Given the description of an element on the screen output the (x, y) to click on. 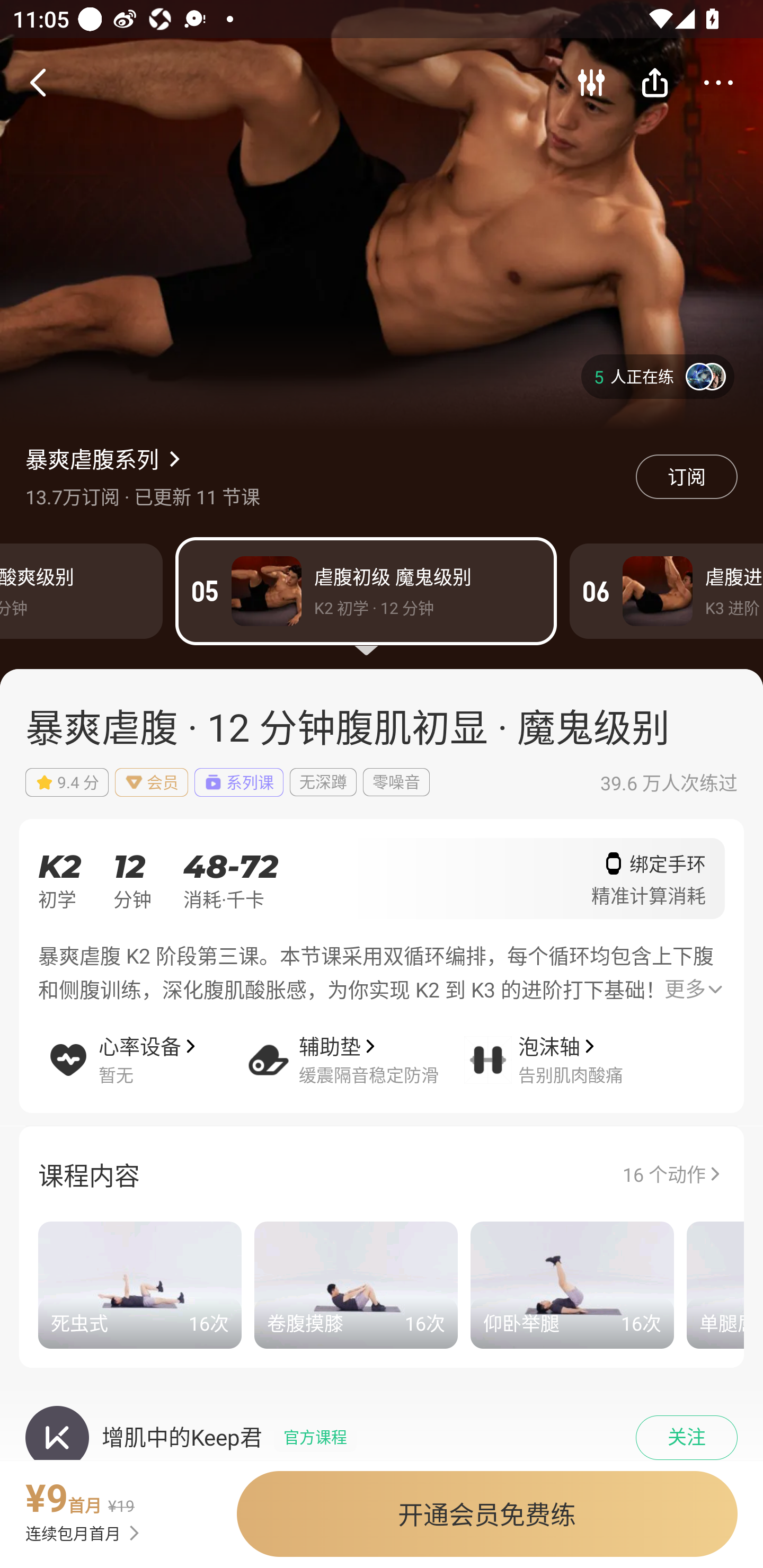
5 人正在练 (657, 376)
暴爽虐腹系列 (91, 458)
订阅 (686, 476)
05 虐腹初级 魔鬼级别 K2 初学 · 12 分钟 (365, 590)
06 虐腹进阶 酸爽级别 K3 进阶 · 9 分钟 (666, 591)
绑定手环 精准计算消耗 (648, 884)
更多 (692, 988)
心率设备 暂无 (144, 1047)
辅助垫 缓震隔音稳定防滑 (353, 1047)
泡沫轴 告别肌肉酸痛 (563, 1047)
课程内容 16 个动作 (381, 1173)
增肌中的Keep君 官方课程 关注 (381, 1420)
关注 (686, 1437)
¥9 首月 ¥19 连续包月首月 (110, 1507)
